Given the description of an element on the screen output the (x, y) to click on. 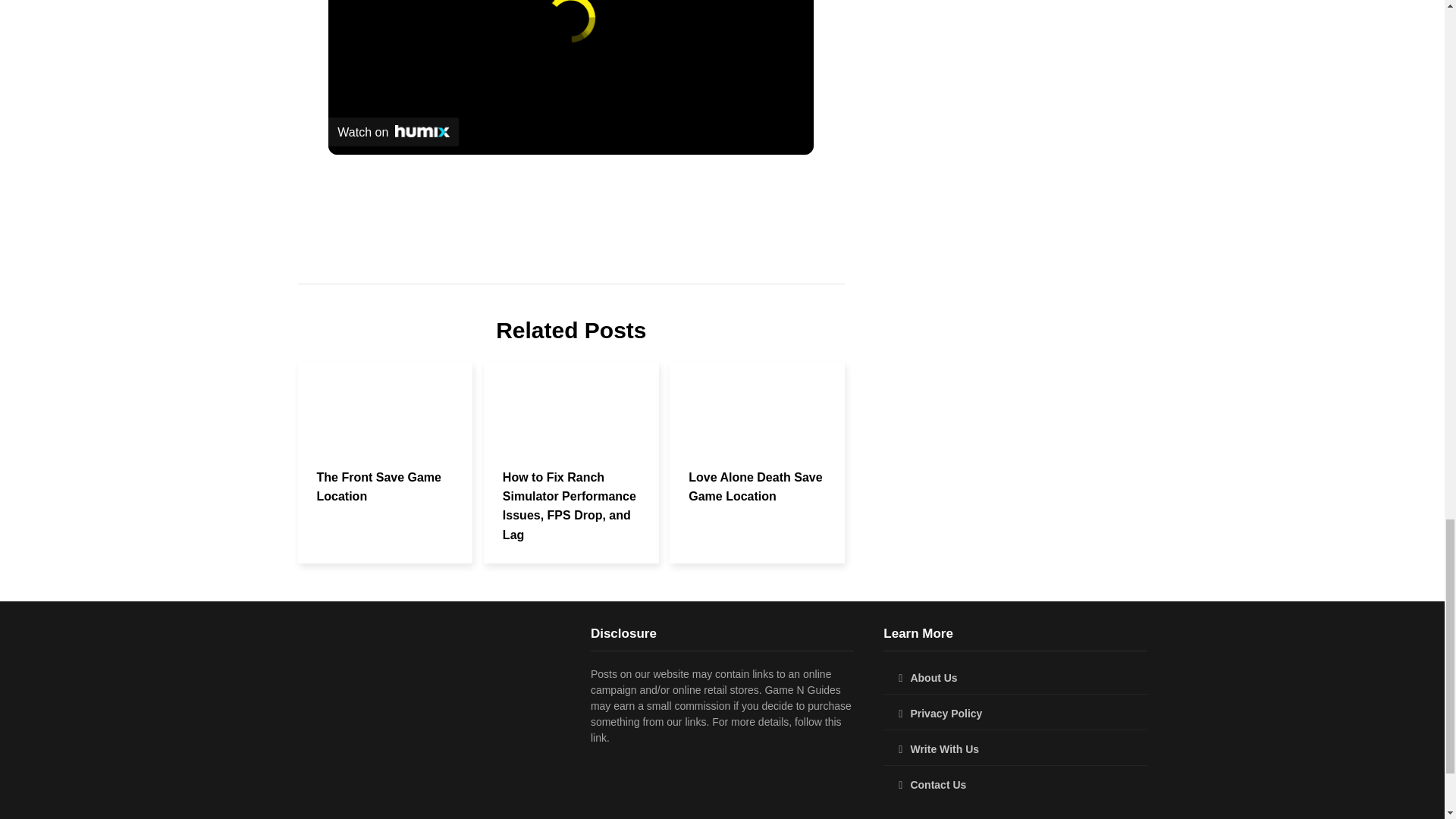
Love Alone Death Save Game Location (755, 486)
The Front Save Game Location (379, 486)
Watch on (393, 131)
